Given the description of an element on the screen output the (x, y) to click on. 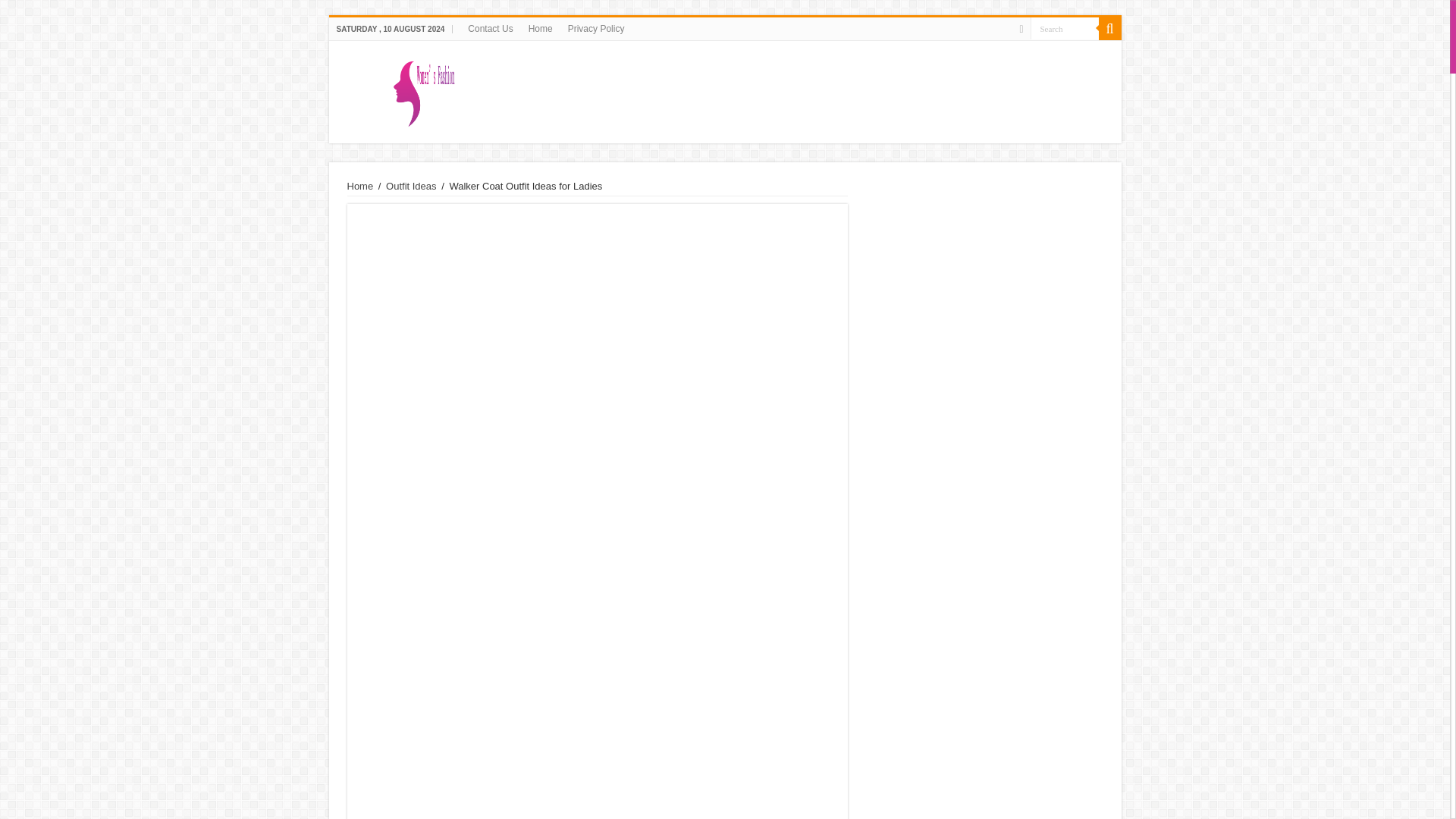
Search (1063, 28)
Search (1063, 28)
Outfit Ideas (410, 185)
kadininmodasi.org (724, 89)
Contact Us (489, 28)
Home (540, 28)
Search (1109, 28)
Home (360, 185)
Search (1063, 28)
Privacy Policy (595, 28)
